Given the description of an element on the screen output the (x, y) to click on. 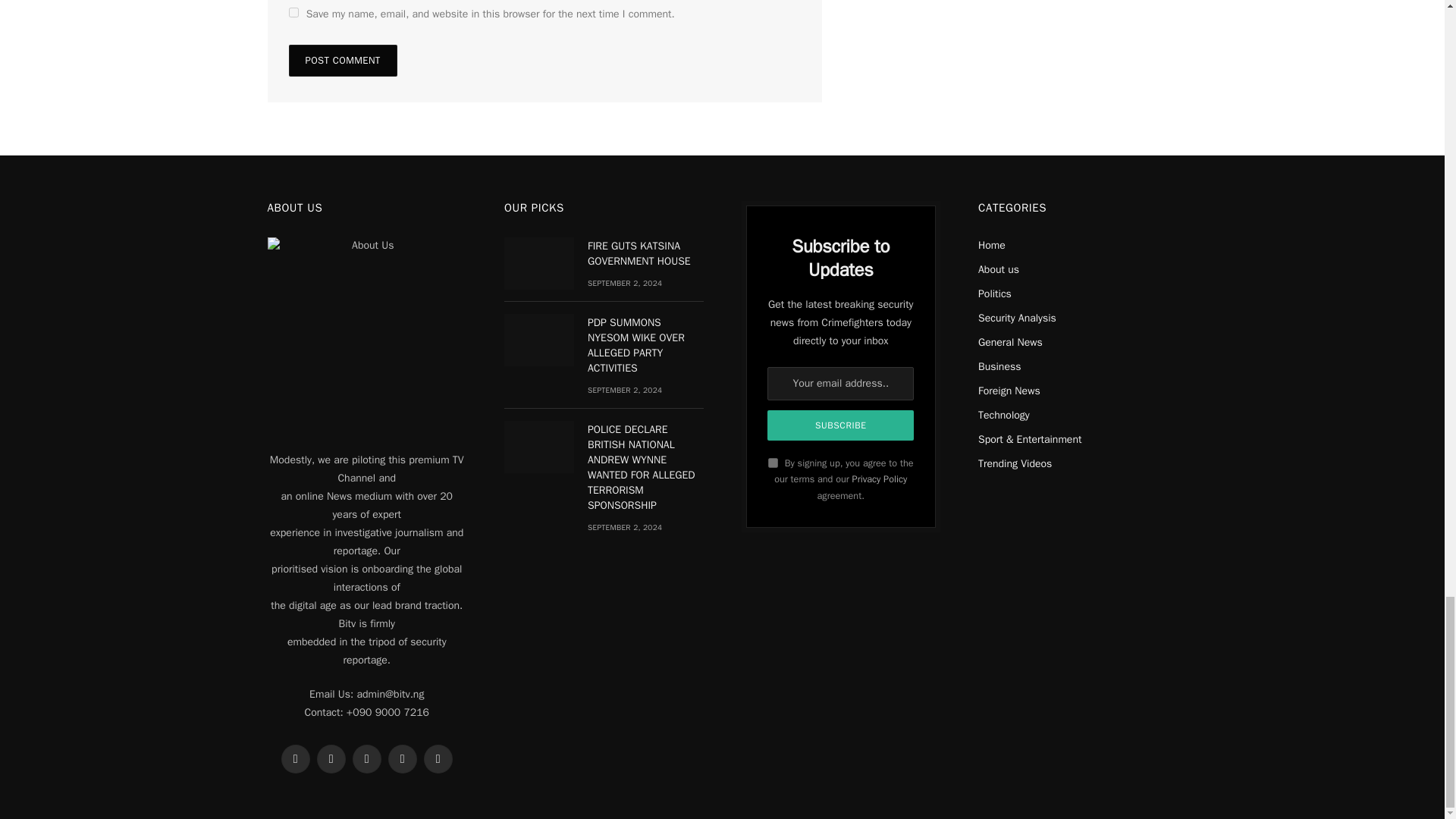
Subscribe (840, 425)
Post Comment (342, 60)
on (772, 462)
yes (293, 12)
